Given the description of an element on the screen output the (x, y) to click on. 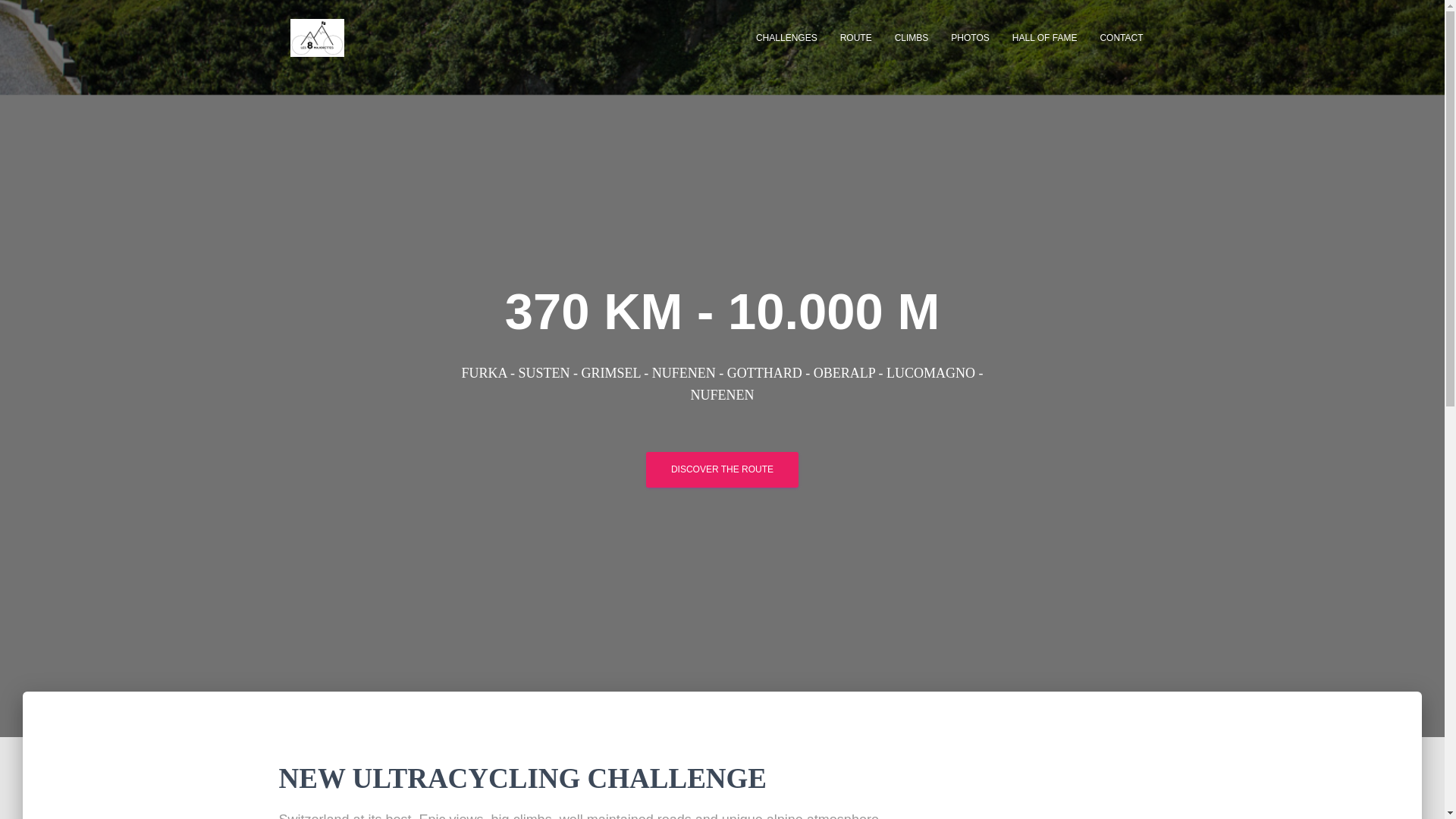
CLIMBS (911, 37)
HALL OF FAME (1045, 37)
CHALLENGES (786, 37)
DISCOVER THE ROUTE (721, 469)
HALL OF FAME (1045, 37)
CONTACT (1120, 37)
PHOTOS (969, 37)
8 Majorettes (317, 37)
CLIMBS (911, 37)
CONTACT (1120, 37)
PHOTOS (969, 37)
DISCOVER THE ROUTE (721, 469)
ROUTE (855, 37)
ROUTE (855, 37)
CHALLENGES (786, 37)
